Given the description of an element on the screen output the (x, y) to click on. 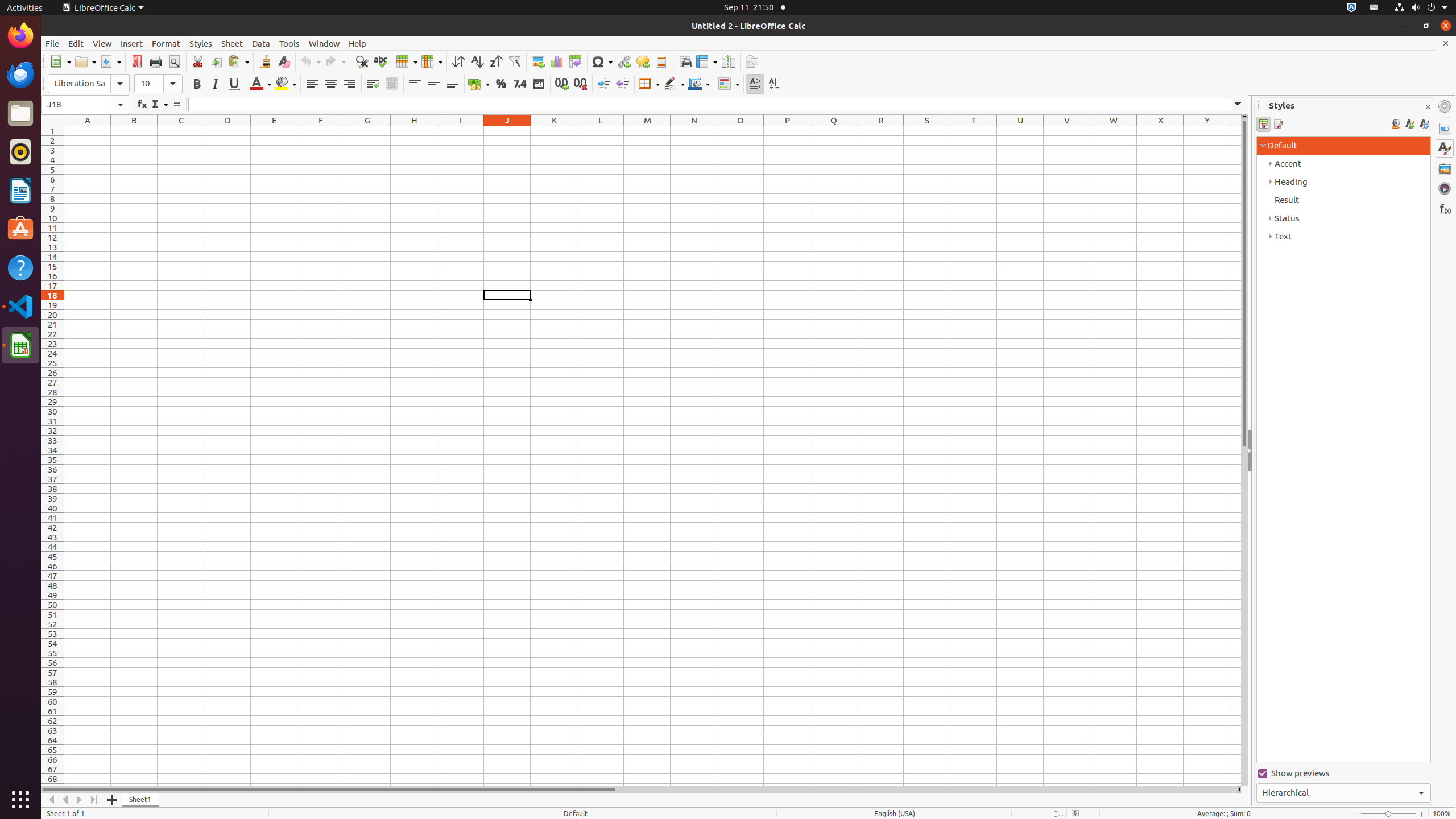
Expand Formula Bar Element type: push-button (1237, 104)
Function Wizard Element type: push-button (141, 104)
Formula Tool Bar Element type: tool-bar (643, 104)
